Given the description of an element on the screen output the (x, y) to click on. 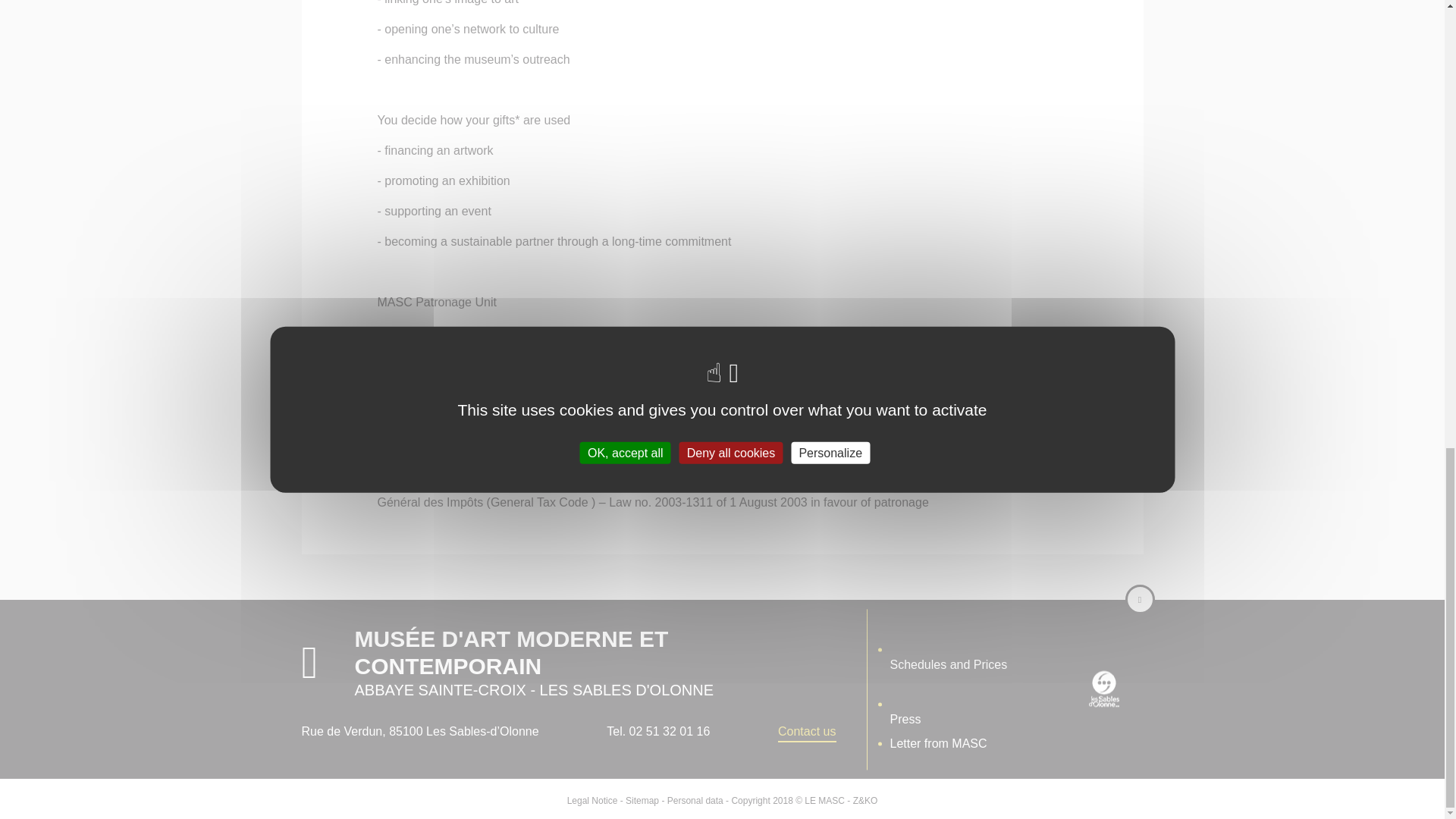
Nous appeler (658, 730)
Personal data (694, 800)
Sitemap (642, 800)
Tel. 02 51 32 01 16 (658, 730)
Schedules and Prices (942, 649)
Sitemap (642, 800)
Letter from MASC (938, 743)
Legal Notice (592, 800)
Schedules and Prices (942, 649)
Personal data (694, 800)
